Given the description of an element on the screen output the (x, y) to click on. 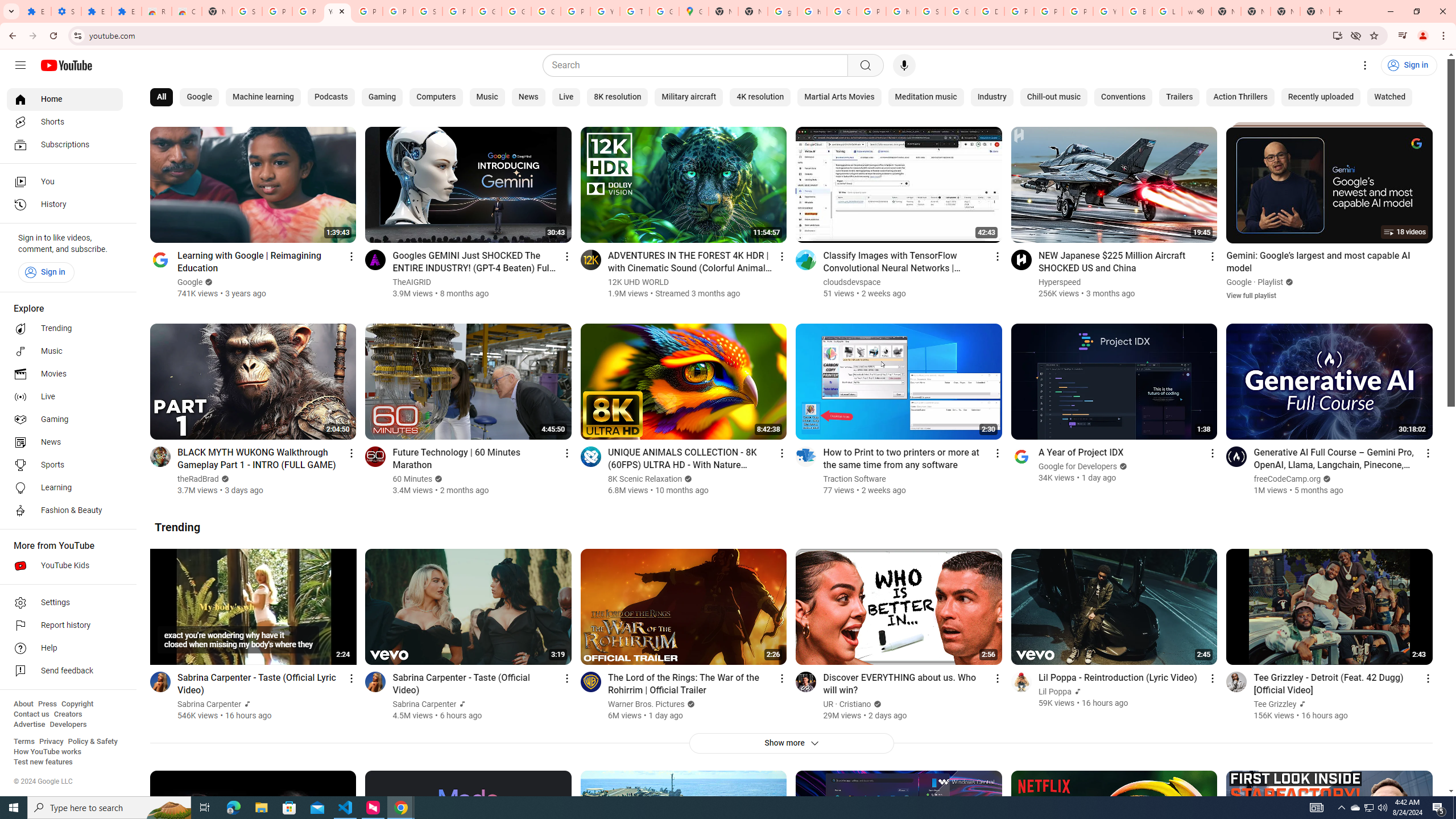
About (23, 703)
YouTube Kids (64, 565)
Machine learning (263, 97)
Control your music, videos, and more (1402, 35)
Gaming (382, 97)
Sign in - Google Accounts (247, 11)
Sign in (45, 272)
Address and search bar (707, 35)
Search (697, 65)
YouTube (604, 11)
Hyperspeed (1059, 282)
Action menu (1427, 677)
Policy & Safety (91, 741)
